Given the description of an element on the screen output the (x, y) to click on. 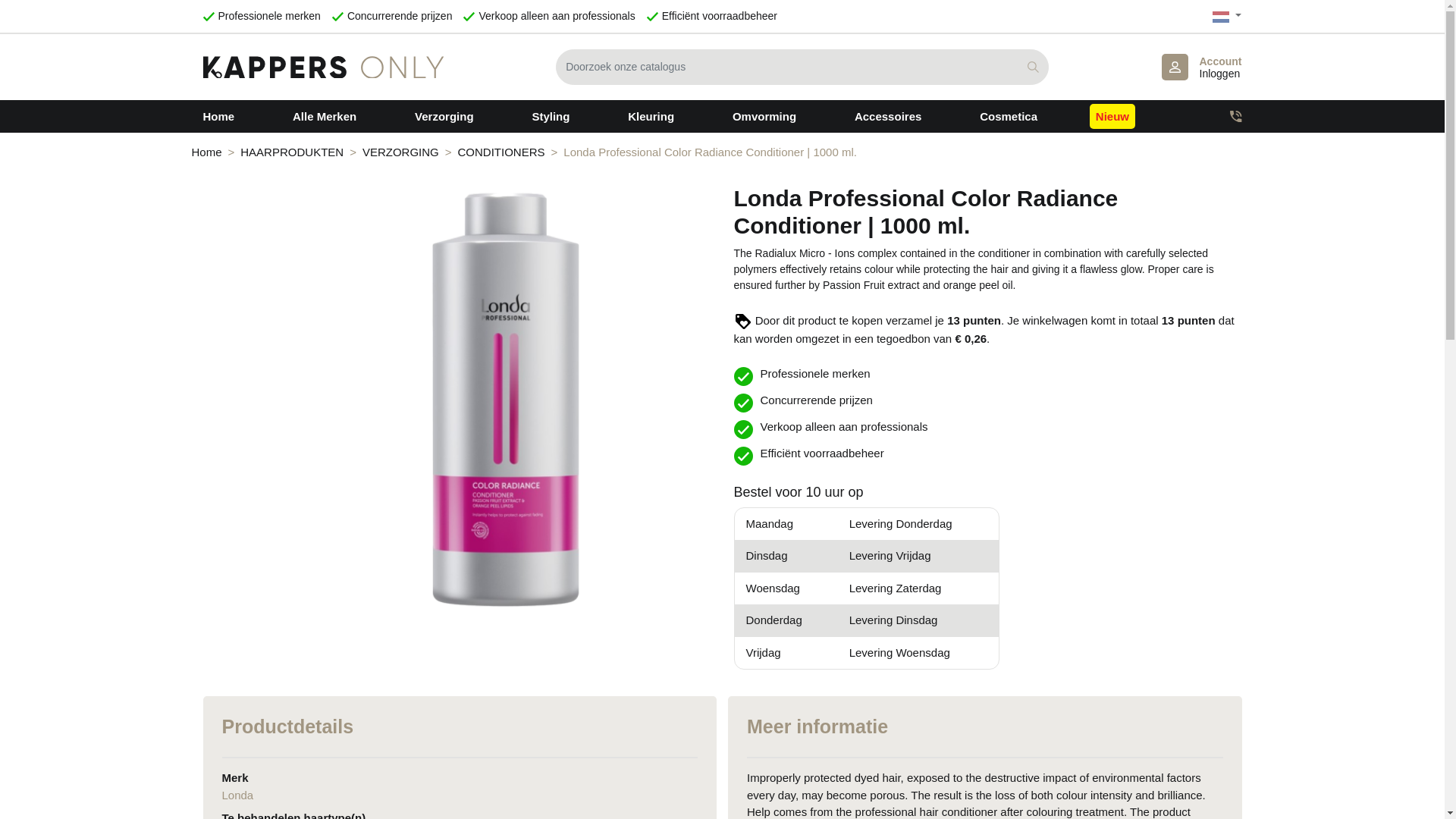
Alle Merken (324, 116)
Inloggen voor uw klantaccount (1201, 67)
Home (1201, 67)
